Given the description of an element on the screen output the (x, y) to click on. 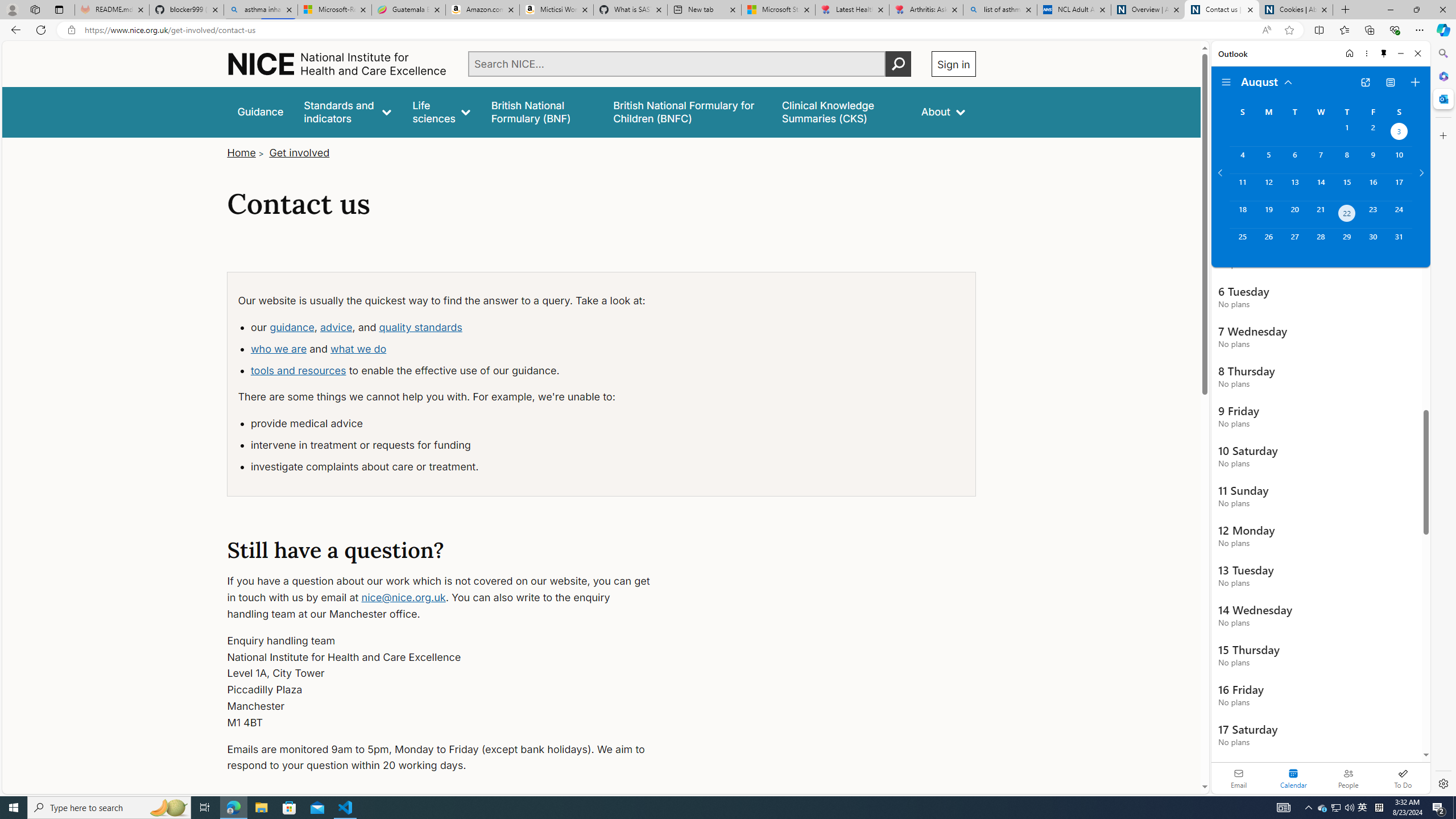
Thursday, August 1, 2024.  (1346, 132)
what we do (358, 348)
asthma inhaler - Search (260, 9)
